Given the description of an element on the screen output the (x, y) to click on. 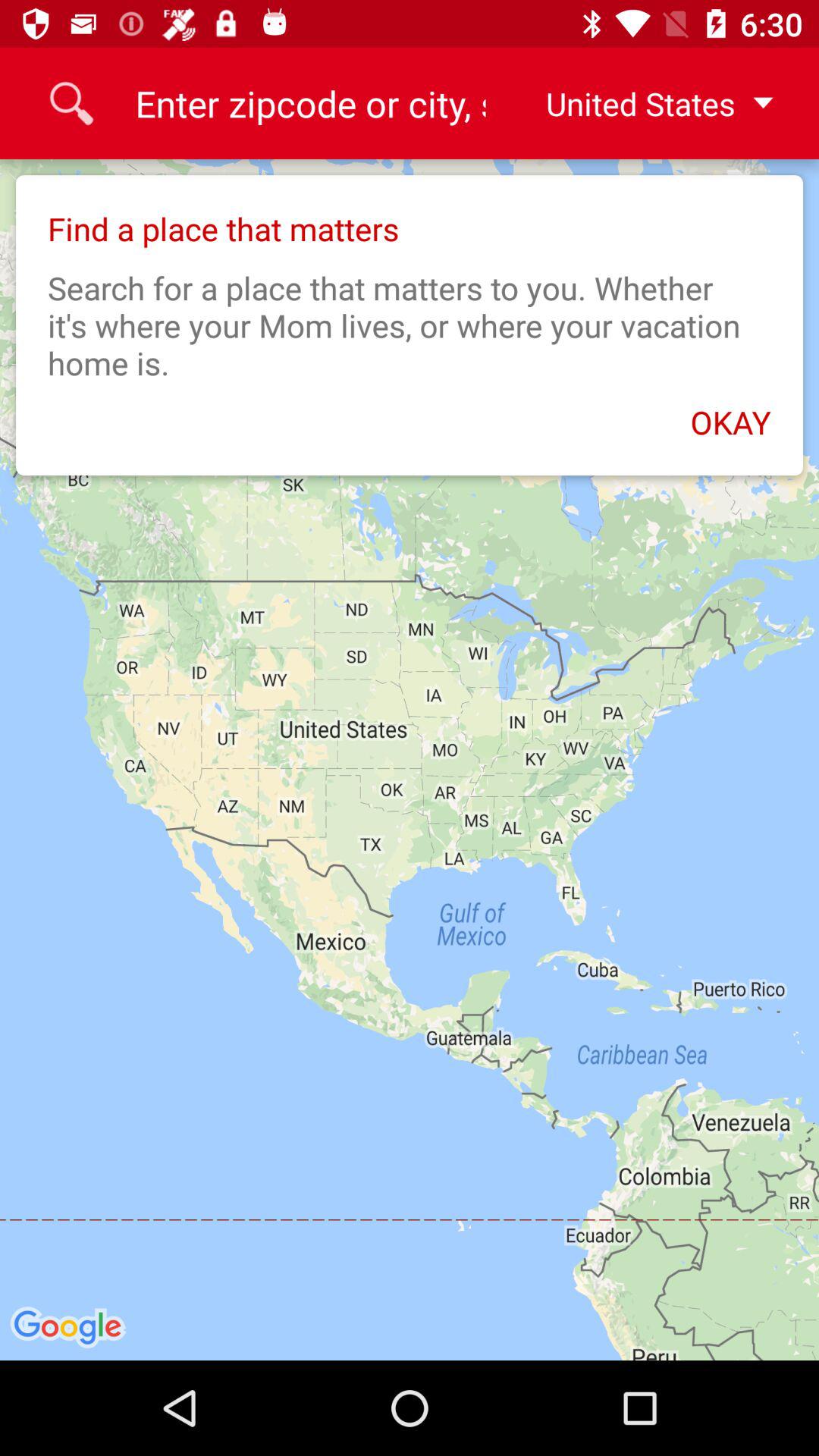
scroll until okay icon (409, 413)
